Given the description of an element on the screen output the (x, y) to click on. 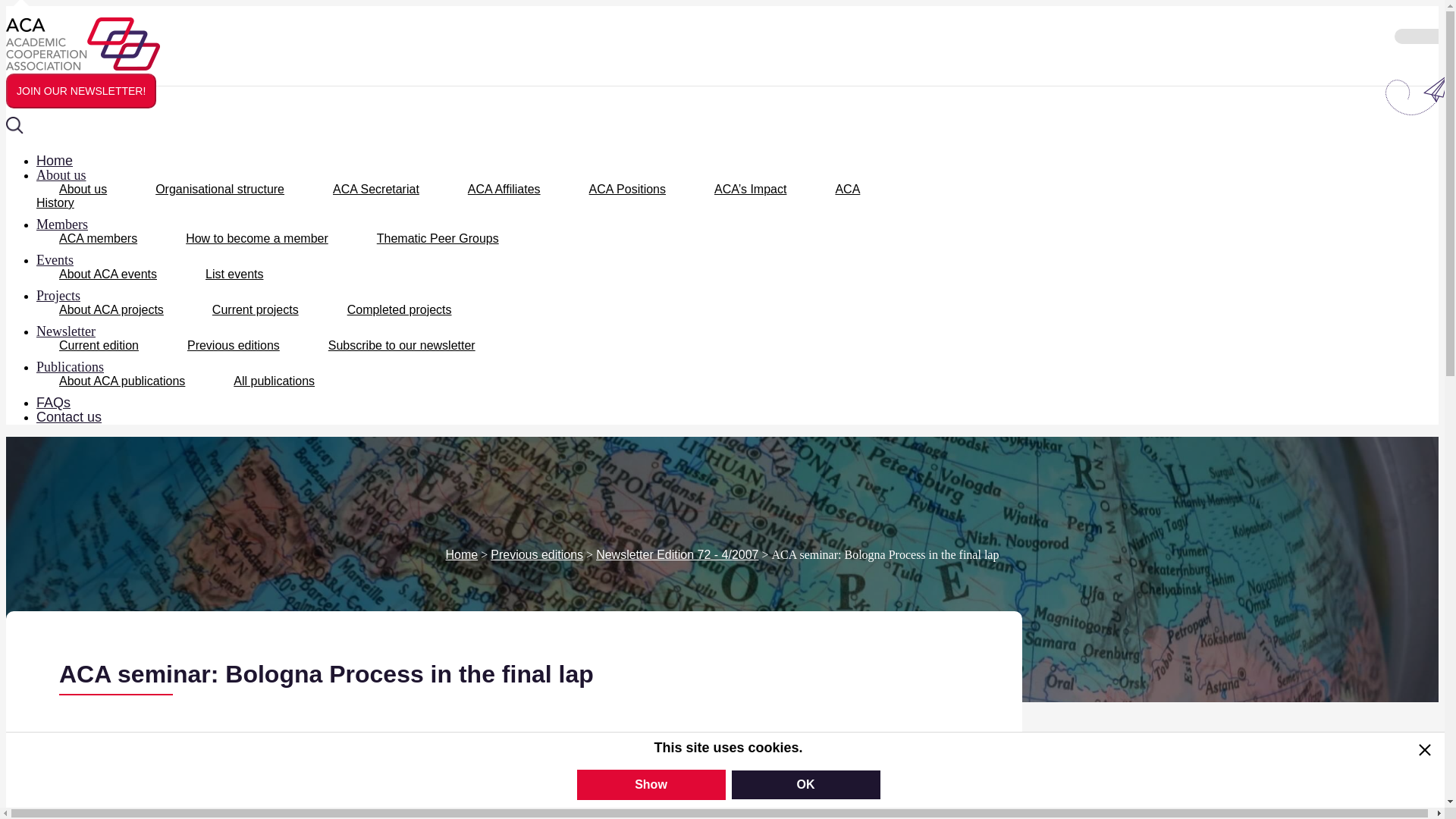
About us (82, 189)
Completed projects (399, 309)
JOIN OUR NEWSLETTER! (80, 90)
List events (234, 274)
Members (73, 224)
Contact us (79, 416)
Thematic Peer Groups (437, 238)
Current projects (255, 309)
About us (72, 175)
About ACA publications (122, 380)
How to become a member (256, 238)
ACA Secretariat (376, 189)
Newsletter (76, 330)
ACA Positions (627, 189)
Home (66, 160)
